Given the description of an element on the screen output the (x, y) to click on. 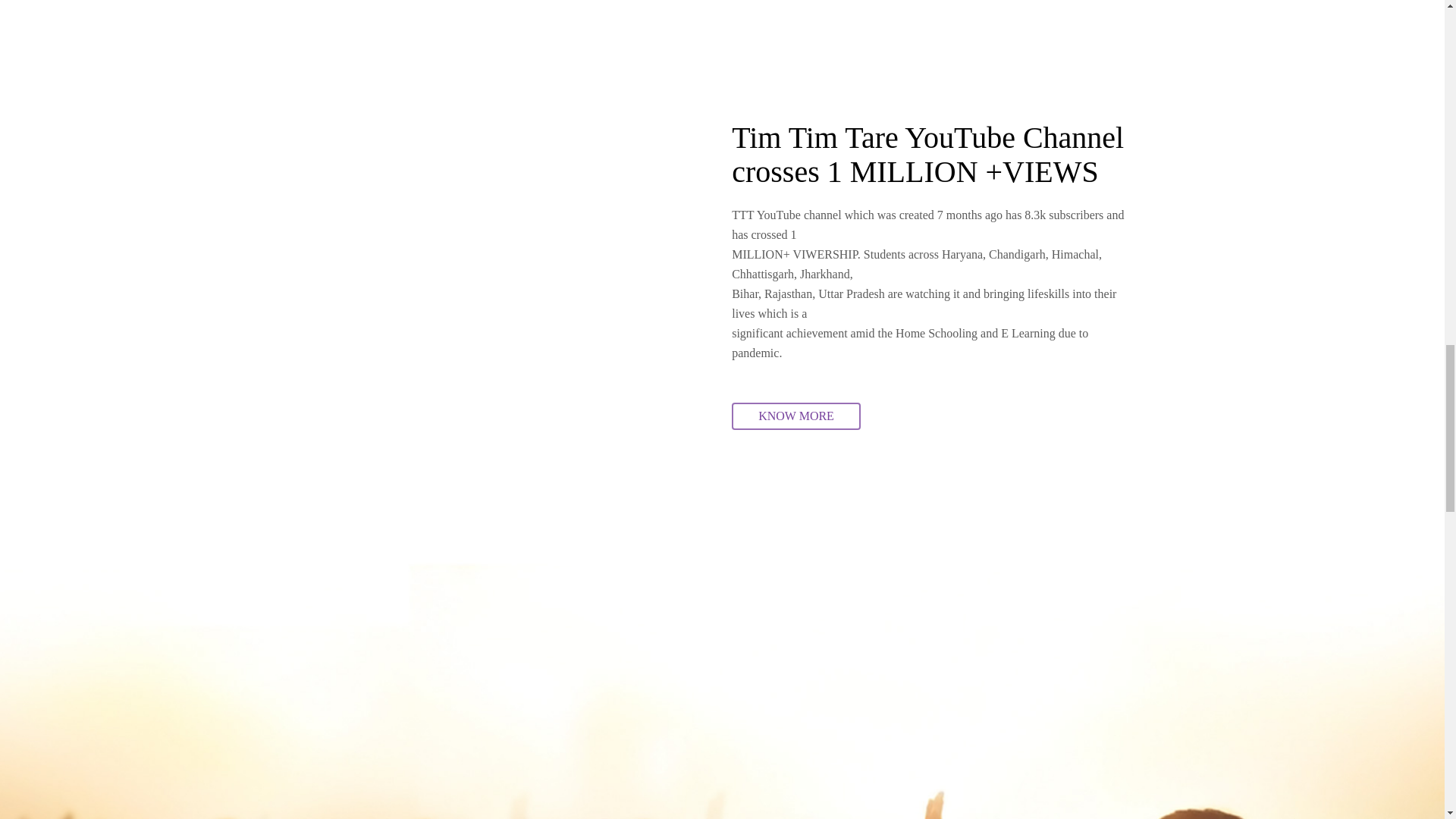
KNOW MORE (796, 415)
